Given the description of an element on the screen output the (x, y) to click on. 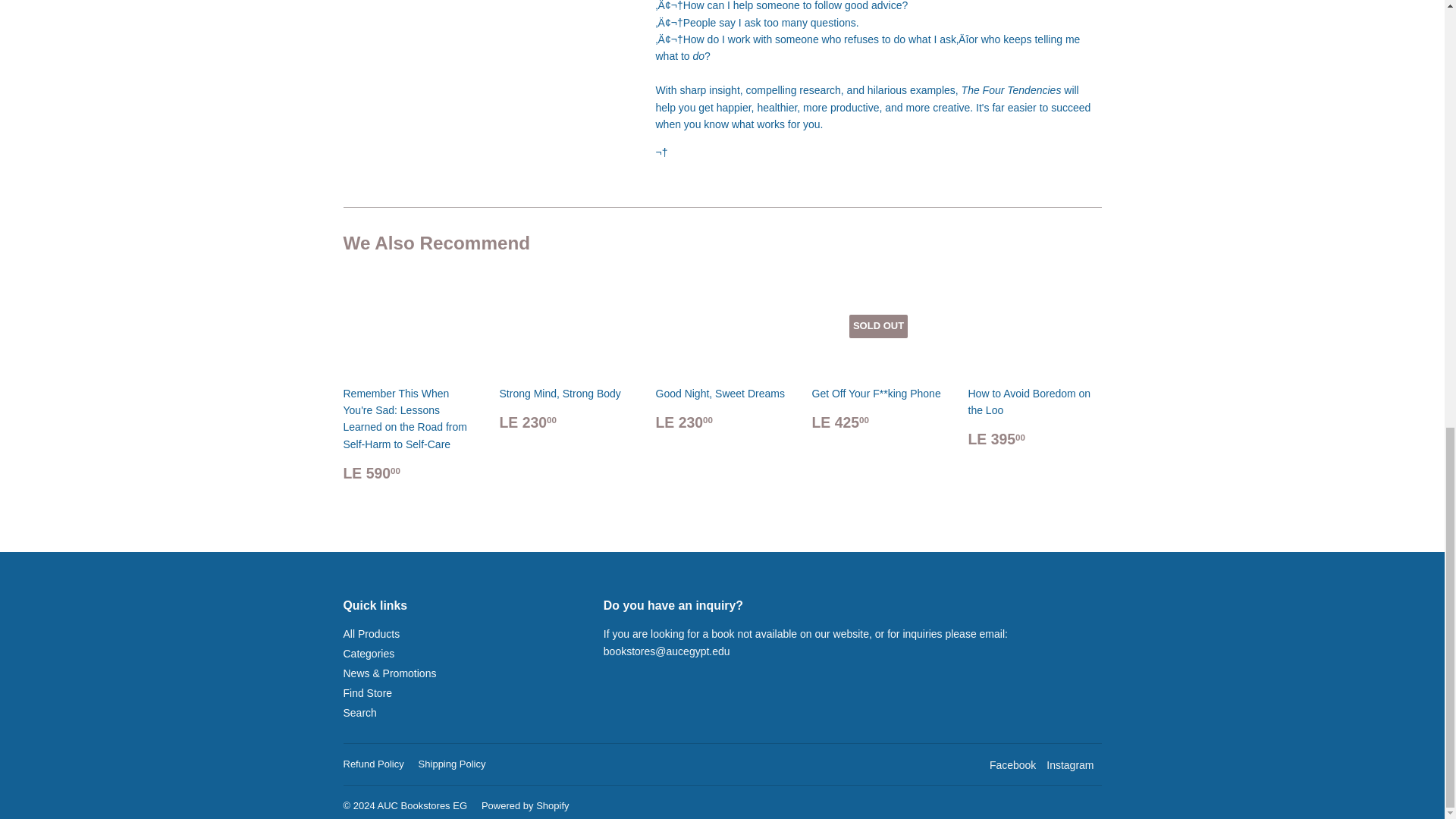
AUC Bookstores EG on Instagram (1069, 765)
Search (358, 712)
Refund Policy (372, 763)
Shipping Policy (452, 763)
Facebook (1012, 765)
AUC Bookstores EG on Facebook (1012, 765)
All Products (370, 633)
Categories (368, 653)
Find Store (366, 693)
